Given the description of an element on the screen output the (x, y) to click on. 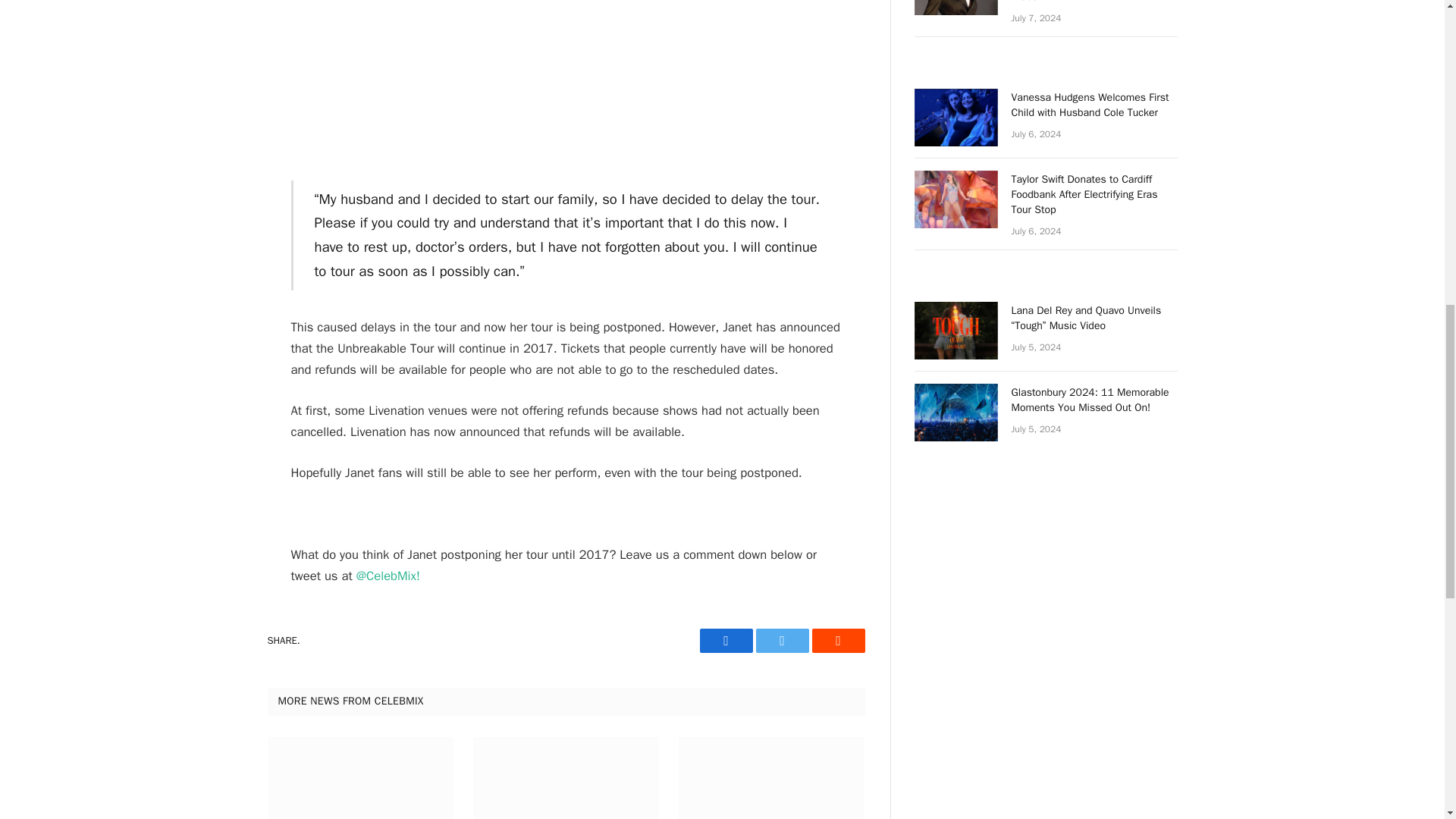
Facebook (725, 640)
Reddit (837, 640)
Twitter (781, 640)
